Given the description of an element on the screen output the (x, y) to click on. 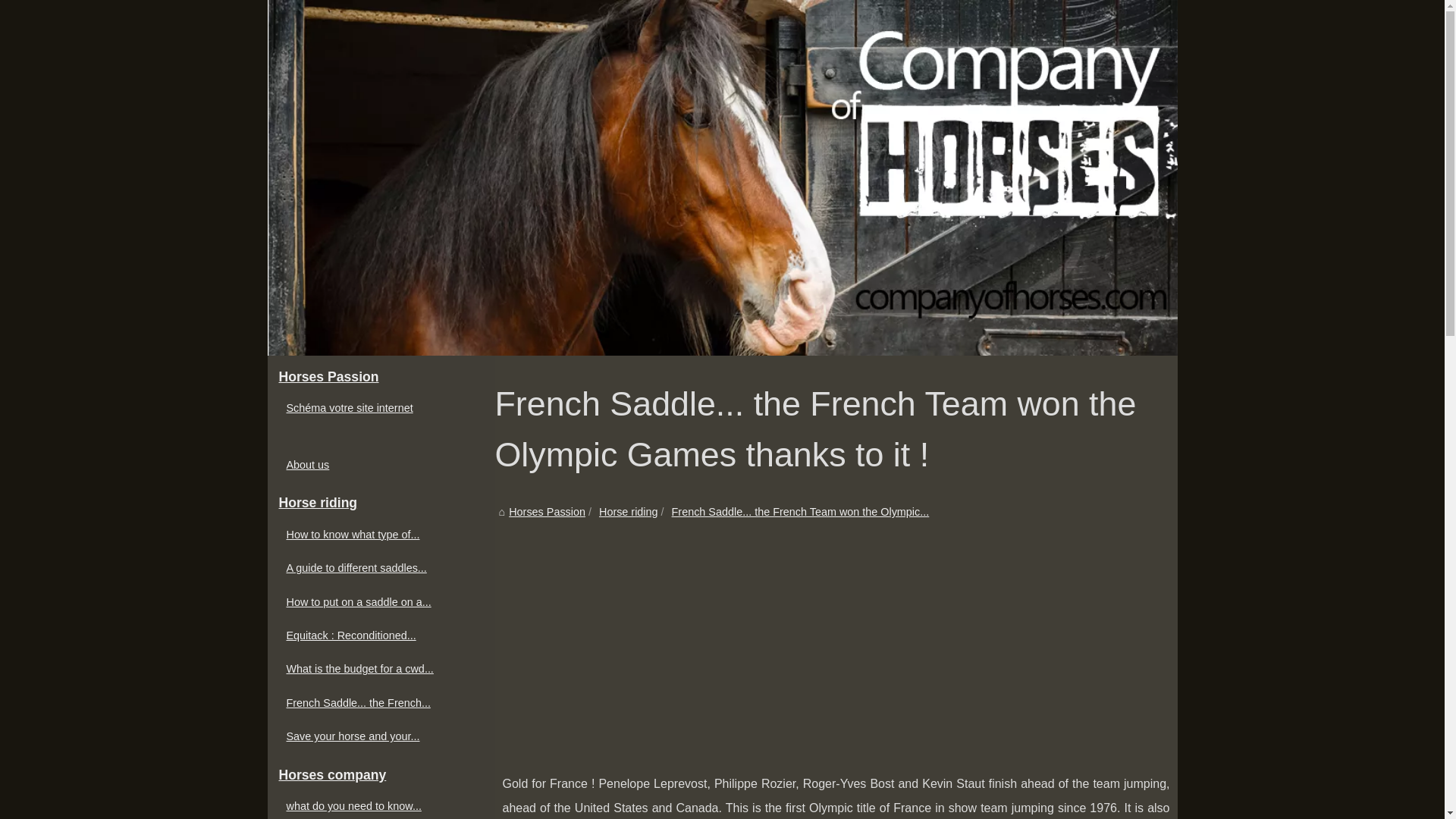
Horses company (380, 775)
Save your horse and your... (373, 736)
Horses Passion (546, 511)
French Saddle... the French Team won the Olympic... (800, 511)
Horses Passion (380, 377)
How to know what type of... (373, 534)
Horses Passion (546, 511)
what do you need to know... (373, 805)
French Saddle... the French... (373, 702)
